Given the description of an element on the screen output the (x, y) to click on. 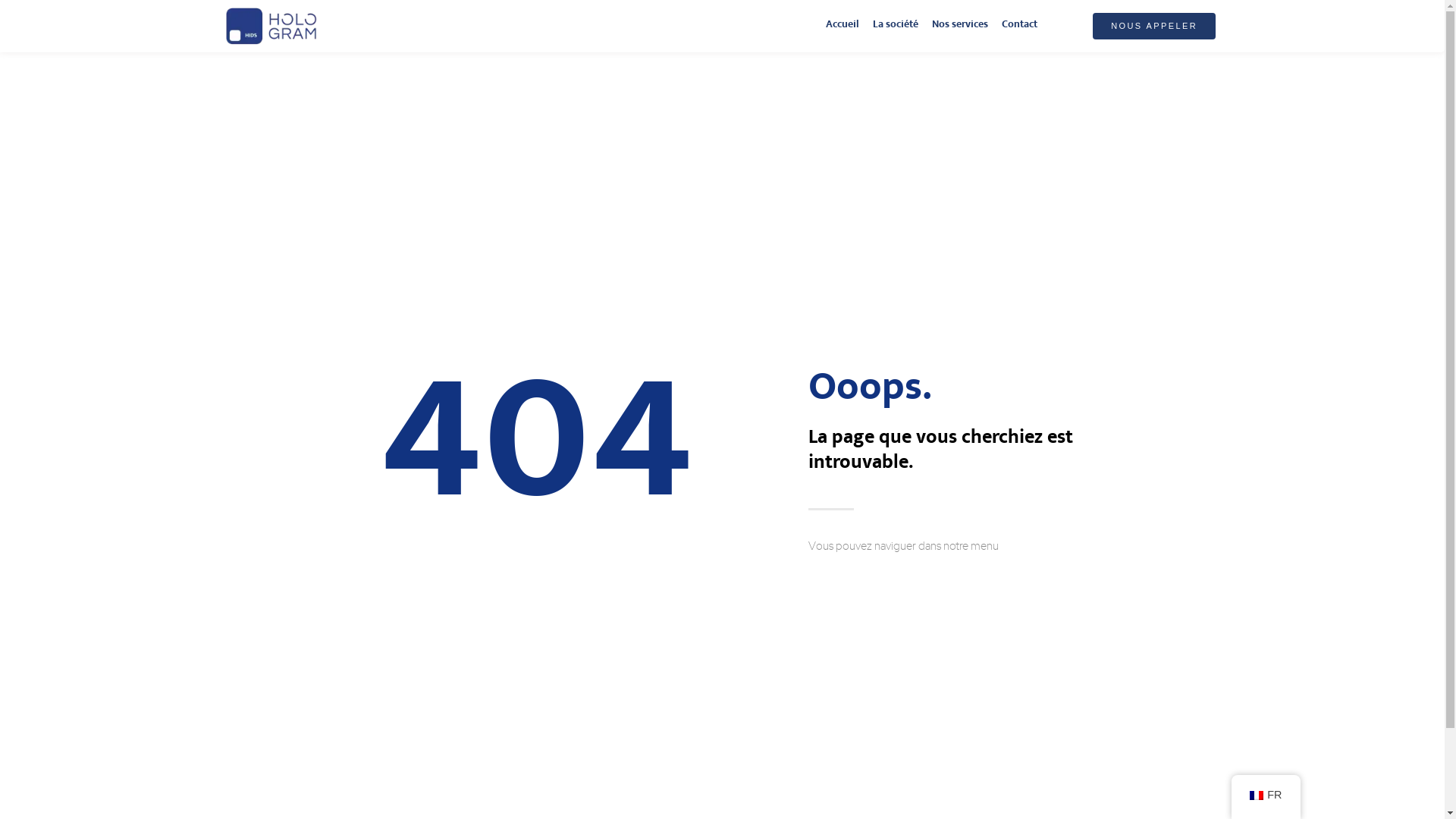
Contact Element type: text (1019, 25)
NOUS APPELER Element type: text (1153, 25)
Accueil Element type: text (842, 25)
French Element type: hover (1256, 795)
FR Element type: text (1265, 795)
Nos services Element type: text (959, 25)
